Given the description of an element on the screen output the (x, y) to click on. 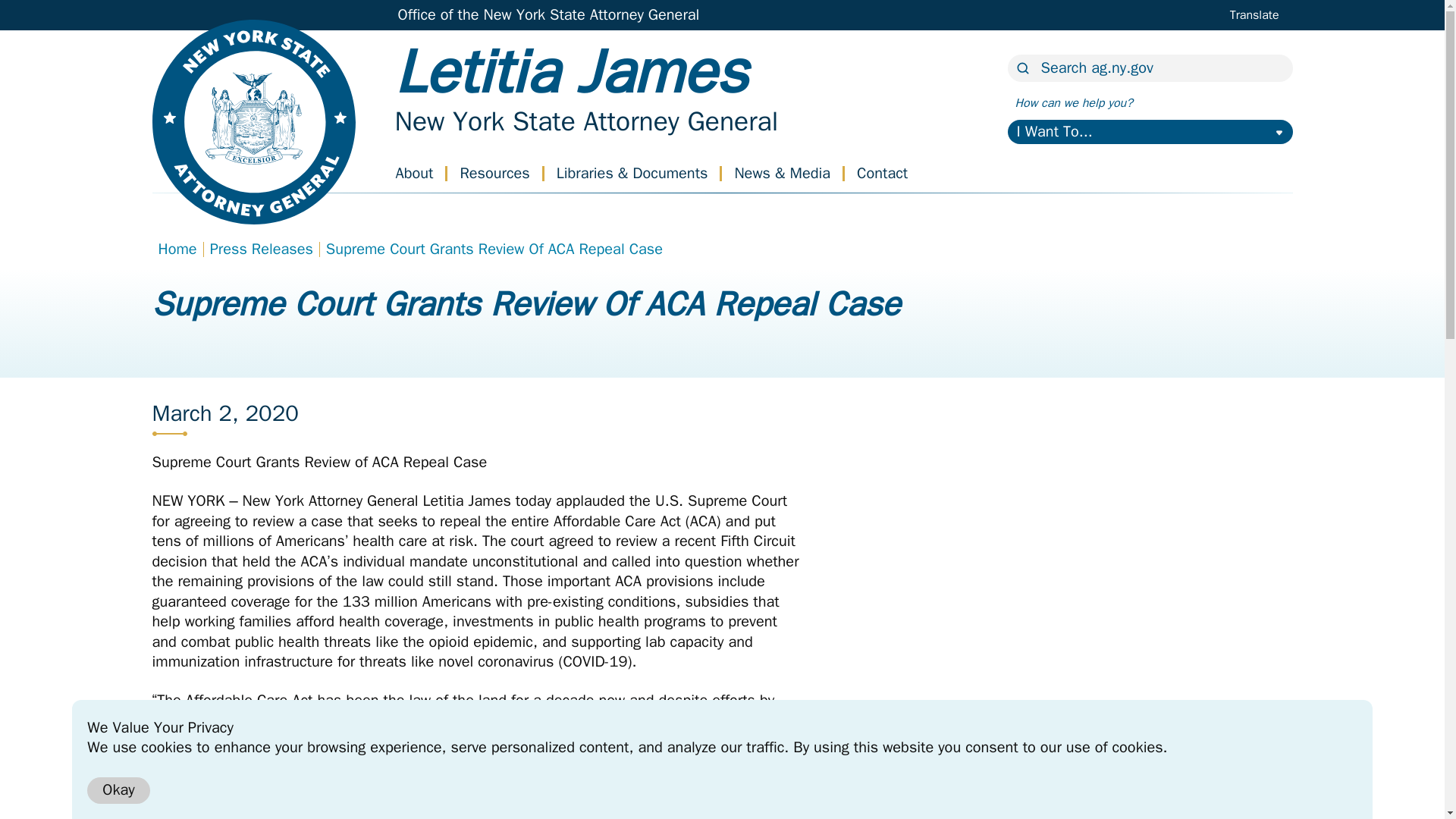
I Want To... (1149, 131)
About (414, 173)
Resources (494, 173)
Translate (579, 90)
Home (1253, 16)
Search (579, 90)
Home (38, 13)
I Want To... (585, 121)
Skip to main content (1149, 131)
